Given the description of an element on the screen output the (x, y) to click on. 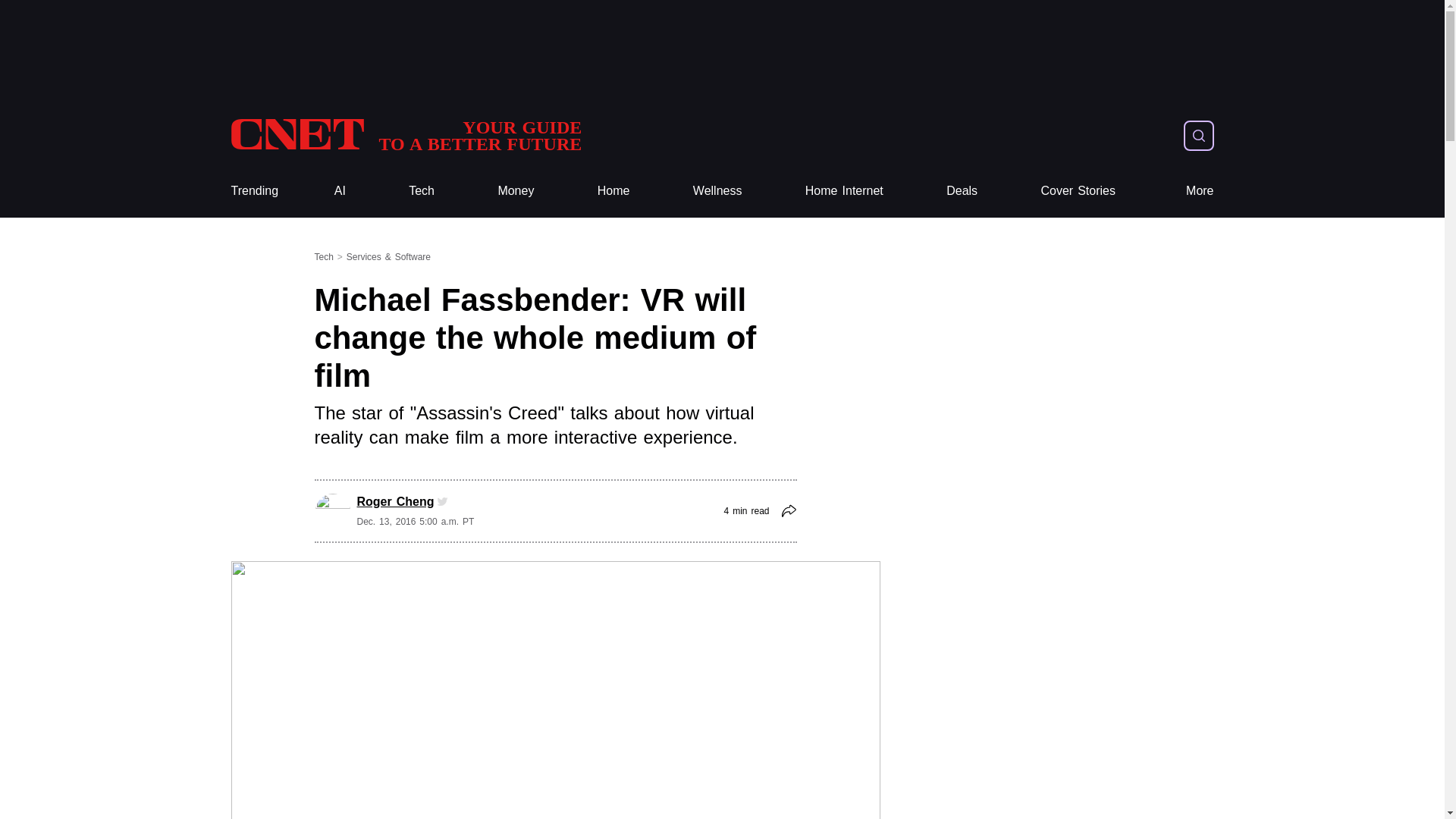
Trending (254, 190)
Trending (254, 190)
Deals (961, 190)
Tech (421, 190)
Wellness (717, 190)
Money (515, 190)
Home (613, 190)
Tech (421, 190)
Money (515, 190)
Home Internet (844, 190)
